Given the description of an element on the screen output the (x, y) to click on. 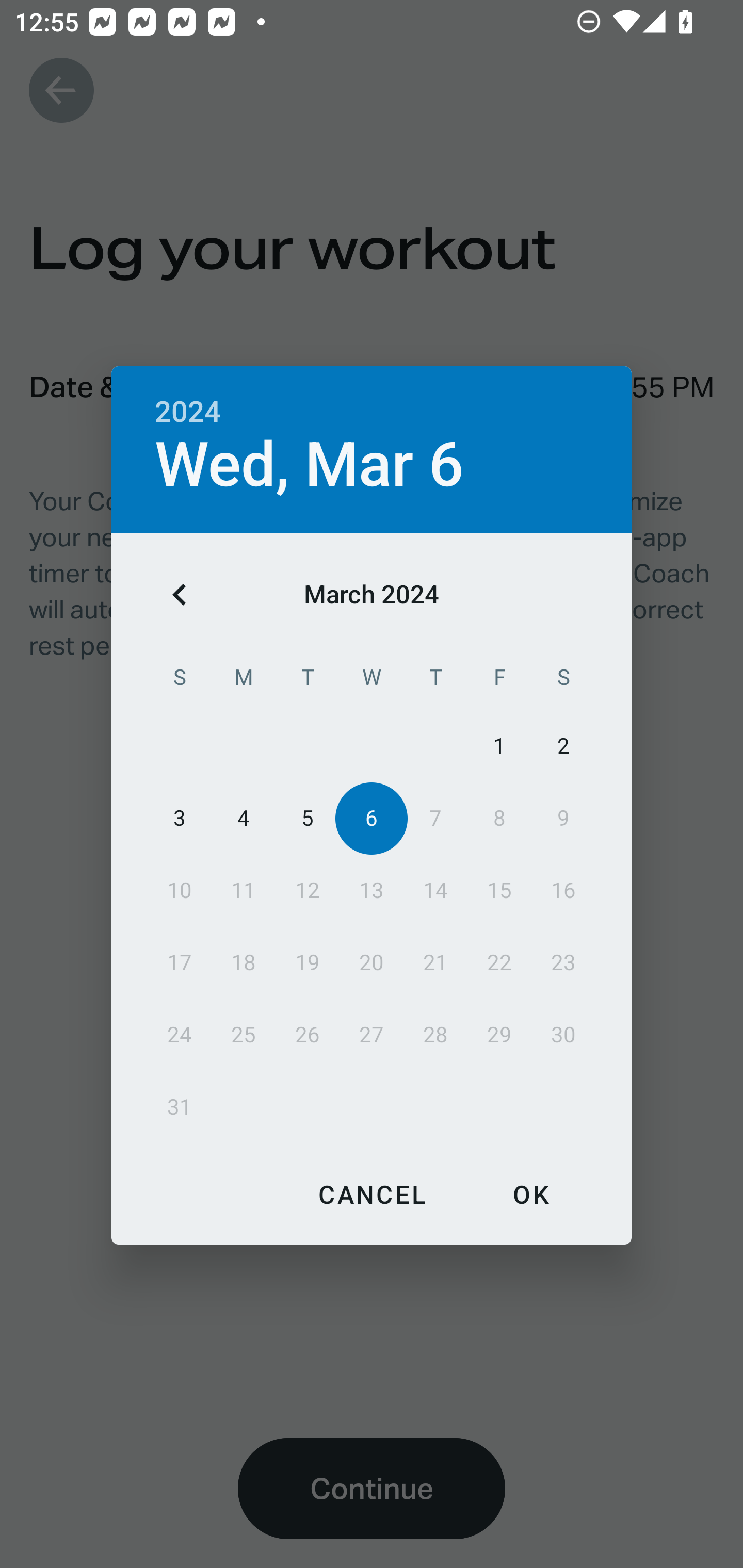
2024 (187, 412)
Wed, Mar 6 (309, 464)
Previous month (178, 594)
1 01 March 2024 (499, 746)
2 02 March 2024 (563, 746)
3 03 March 2024 (179, 818)
4 04 March 2024 (243, 818)
5 05 March 2024 (307, 818)
6 06 March 2024 (371, 818)
7 07 March 2024 (435, 818)
8 08 March 2024 (499, 818)
9 09 March 2024 (563, 818)
10 10 March 2024 (179, 890)
11 11 March 2024 (243, 890)
12 12 March 2024 (307, 890)
13 13 March 2024 (371, 890)
14 14 March 2024 (435, 890)
15 15 March 2024 (499, 890)
16 16 March 2024 (563, 890)
17 17 March 2024 (179, 962)
18 18 March 2024 (243, 962)
19 19 March 2024 (307, 962)
20 20 March 2024 (371, 962)
21 21 March 2024 (435, 962)
22 22 March 2024 (499, 962)
23 23 March 2024 (563, 962)
24 24 March 2024 (179, 1034)
25 25 March 2024 (243, 1034)
26 26 March 2024 (307, 1034)
27 27 March 2024 (371, 1034)
28 28 March 2024 (435, 1034)
29 29 March 2024 (499, 1034)
30 30 March 2024 (563, 1034)
31 31 March 2024 (179, 1106)
CANCEL (371, 1193)
OK (530, 1193)
